Given the description of an element on the screen output the (x, y) to click on. 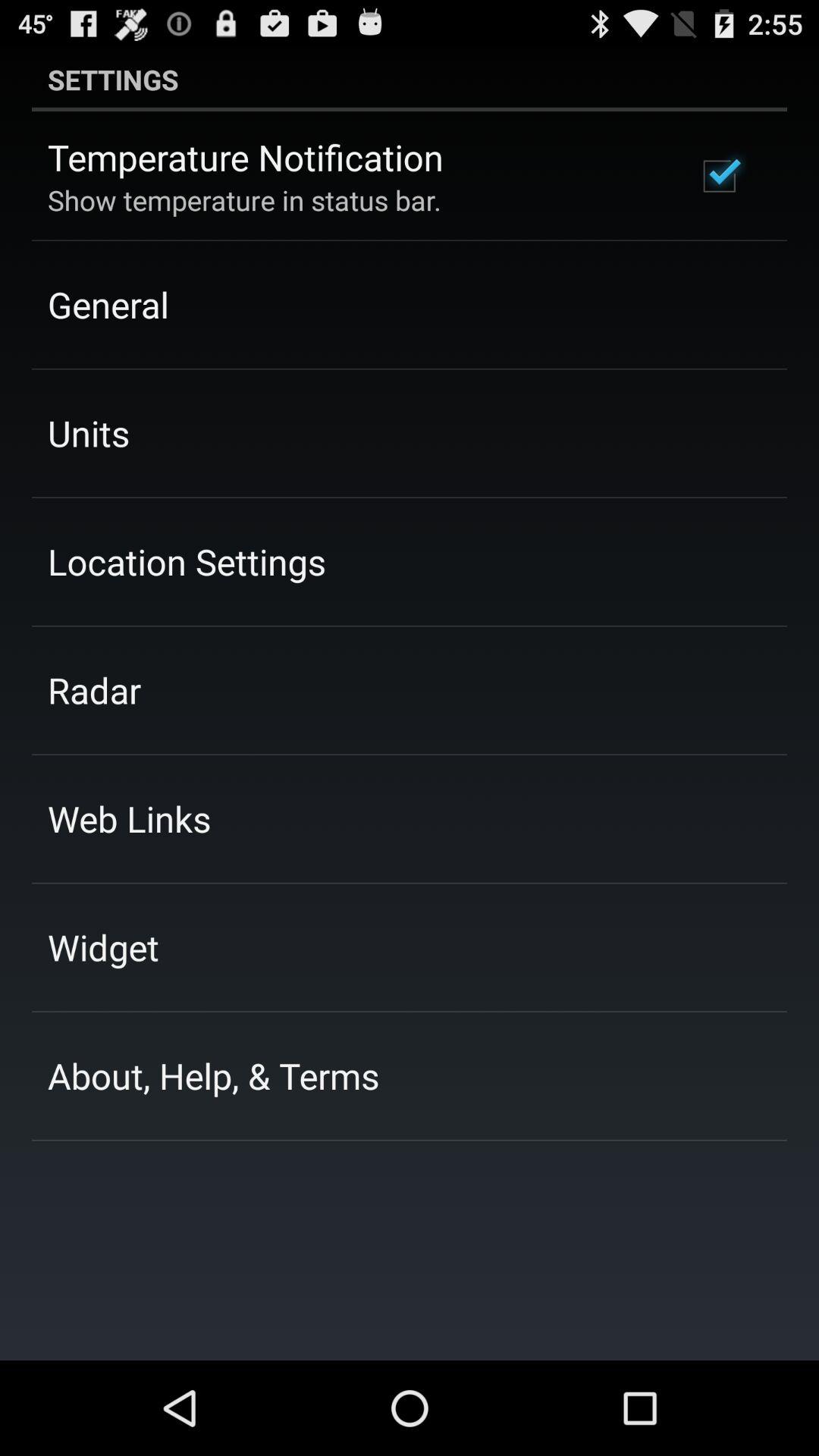
press web links app (129, 818)
